Given the description of an element on the screen output the (x, y) to click on. 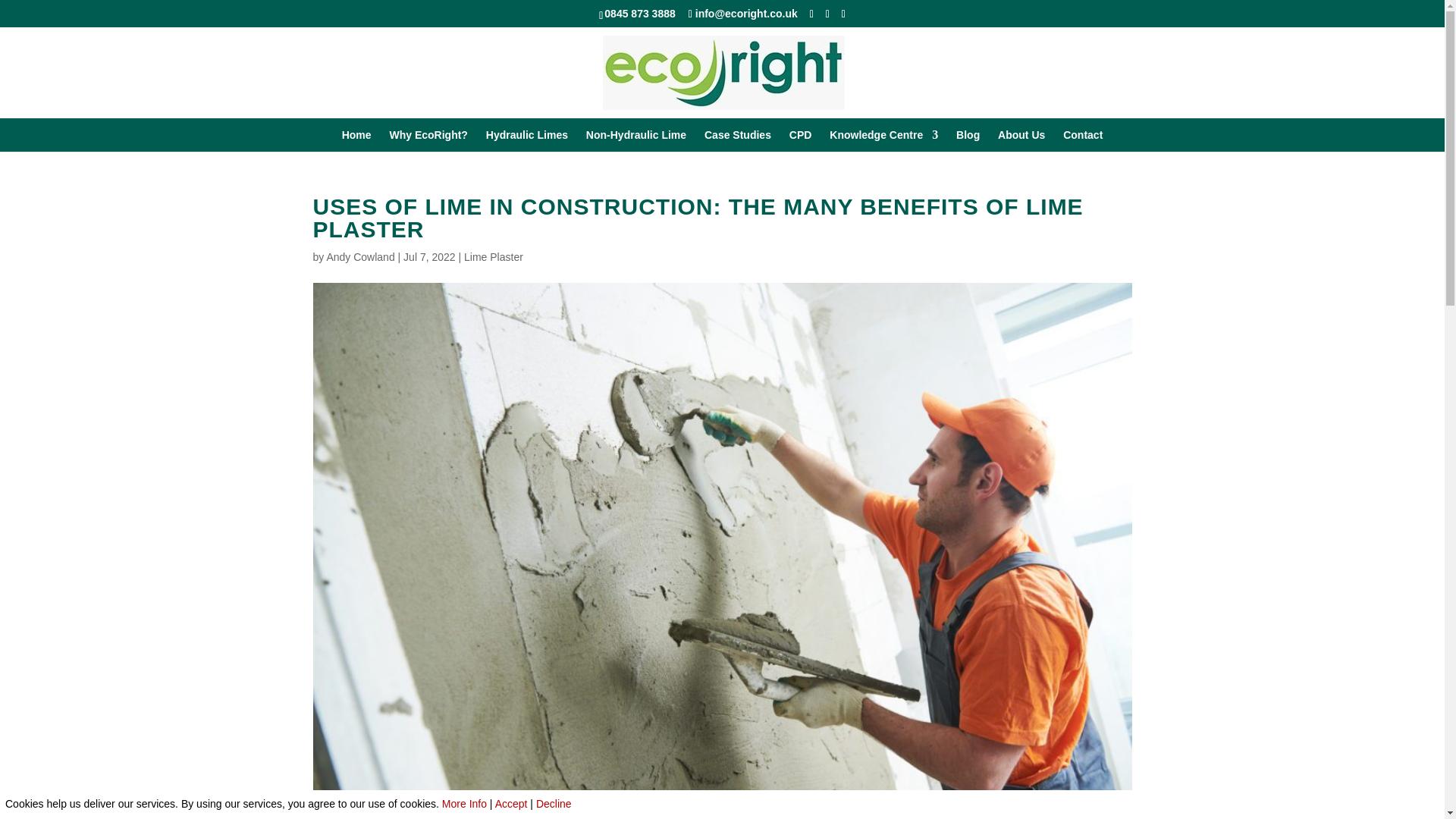
Non-Hydraulic Lime (635, 140)
Contact (1082, 140)
Posts by Andy Cowland (360, 256)
About Us (1021, 140)
Hydraulic Limes (526, 140)
Case Studies (737, 140)
Why EcoRight? (427, 140)
Home (356, 140)
Knowledge Centre (883, 140)
Andy Cowland (360, 256)
